Given the description of an element on the screen output the (x, y) to click on. 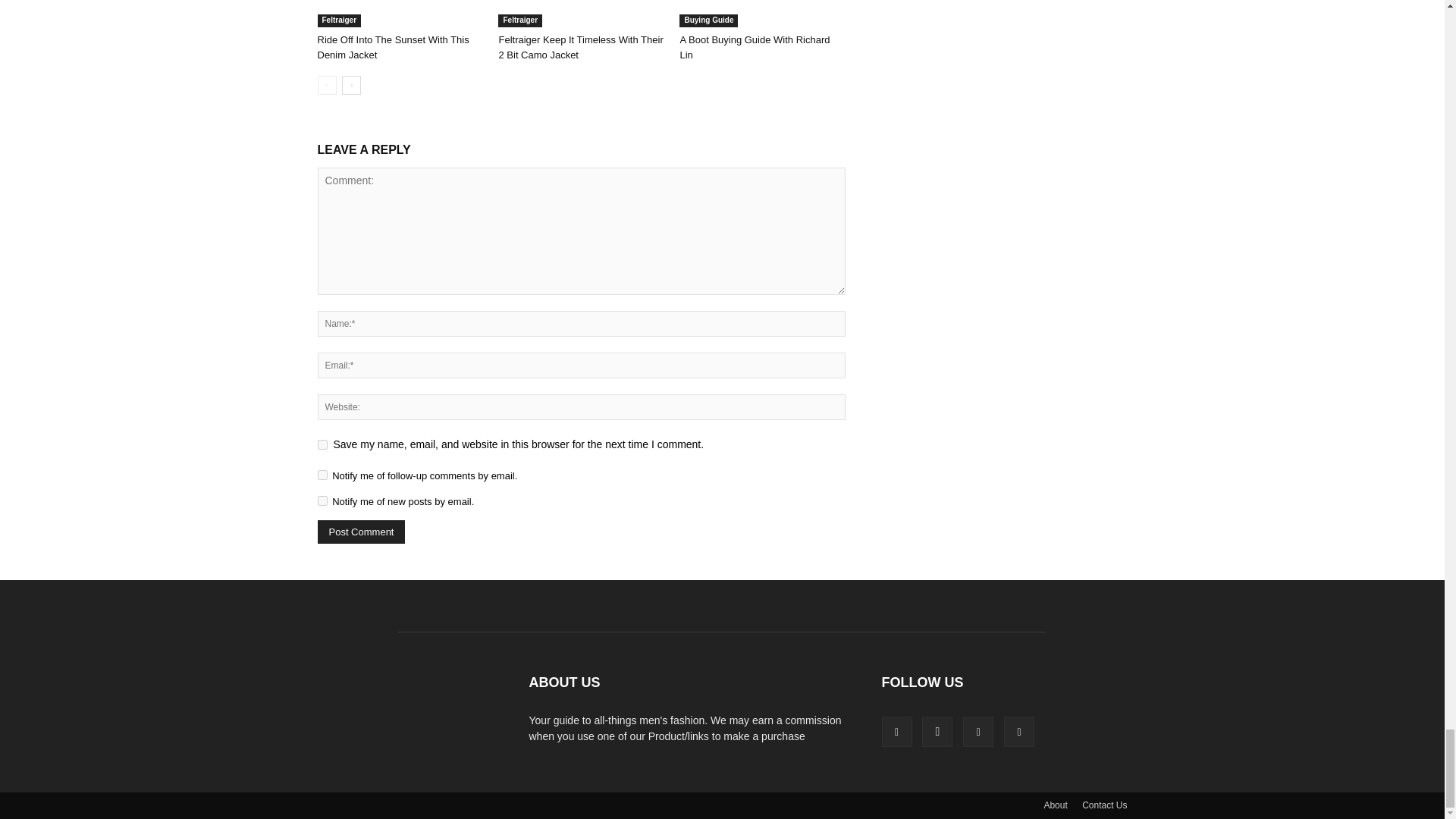
subscribe (321, 474)
yes (321, 444)
Post Comment (360, 531)
subscribe (321, 501)
